Given the description of an element on the screen output the (x, y) to click on. 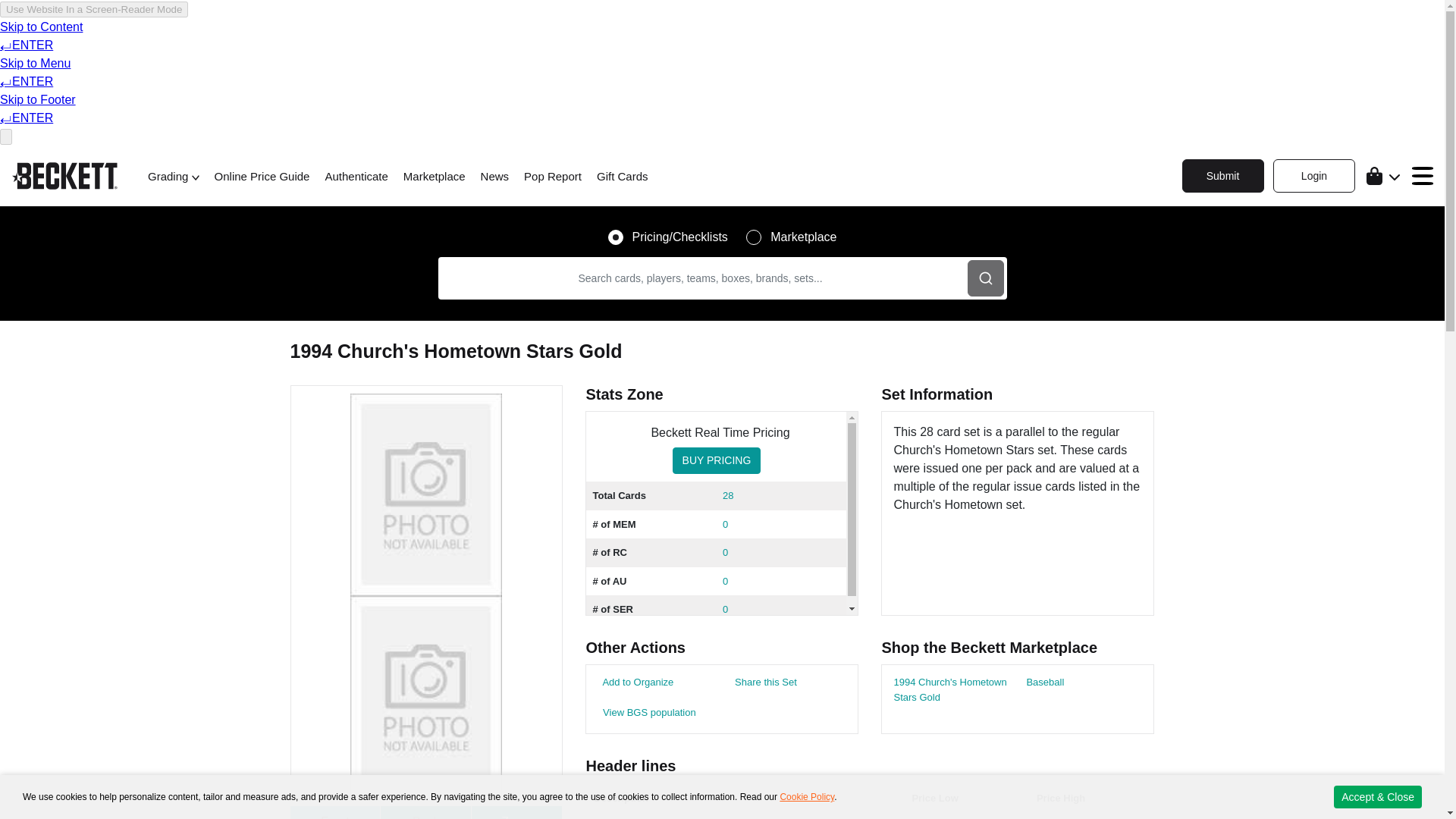
Marketplace (434, 176)
Pop Report (552, 176)
Authenticate (355, 176)
Grading (173, 176)
Login (1313, 175)
View Pop Report (645, 712)
Gift Cards (621, 176)
Share this set with your friends. (762, 682)
Online Price Guide (262, 176)
News (494, 176)
